Given the description of an element on the screen output the (x, y) to click on. 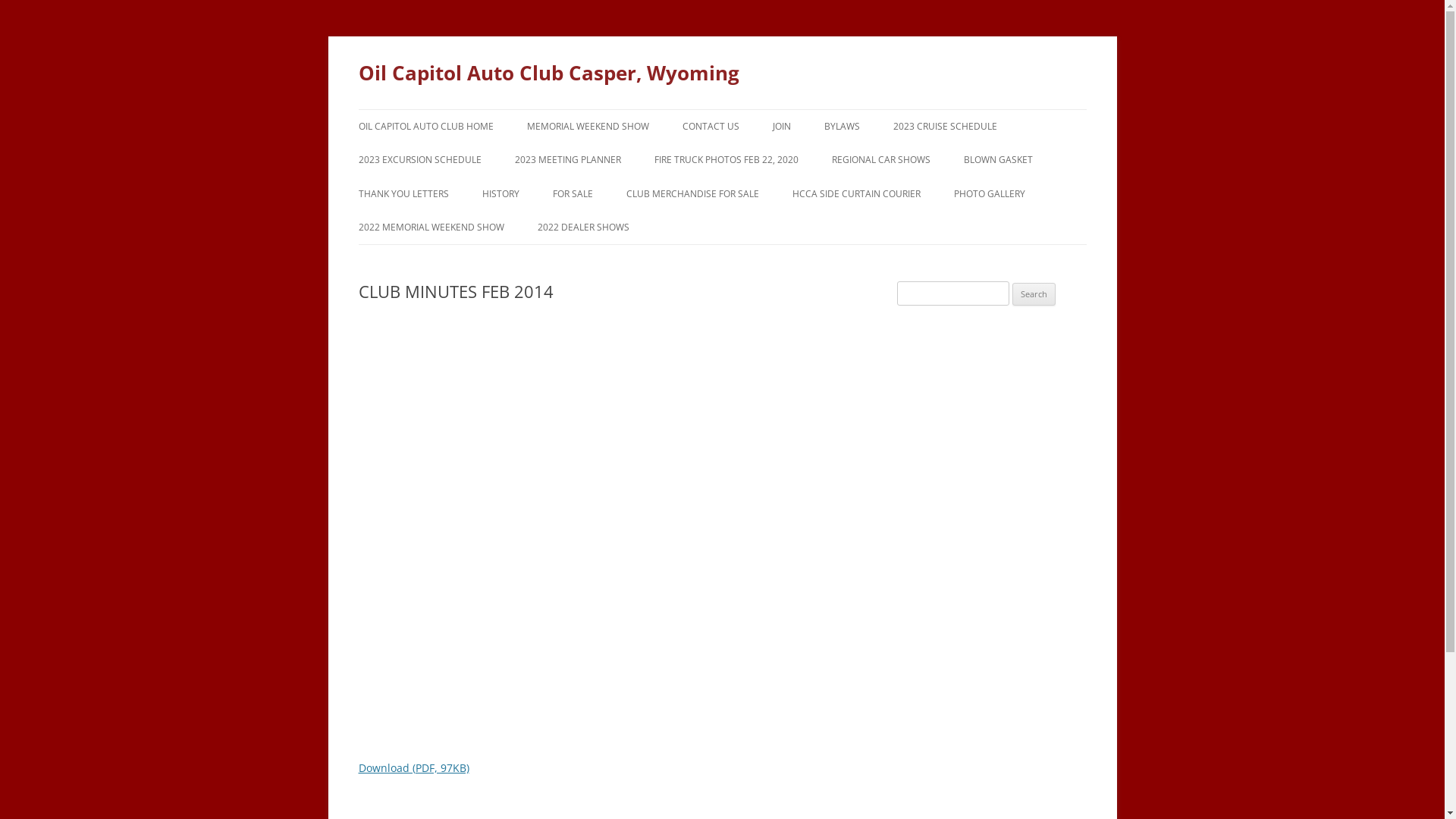
BYLAWS Element type: text (841, 126)
HISTORY Element type: text (500, 193)
REGIONAL CAR SHOWS Element type: text (880, 159)
Download (PDF, 97KB) Element type: text (412, 767)
NOVEMBER 2023 NEWSLETTER Element type: text (1038, 192)
2023 CRUISE SCHEDULE Element type: text (945, 126)
RON POTTER THANK YOU LETTER Element type: text (433, 225)
PHOTO GALLERY Element type: text (989, 193)
MEMORIAL WEEKEND SHOW Element type: text (587, 126)
BLOWN GASKET Element type: text (997, 159)
2022 DEALER SHOWS Element type: text (582, 227)
2023 MEETING PLANNER Element type: text (567, 159)
FOR SALE Element type: text (572, 193)
JANUARY 2022 NEW YEARS BRUNCH Element type: text (1029, 235)
2022 MEMORIAL WEEKEND SHOW Element type: text (430, 227)
CLUB MERCHANDISE FOR SALE Element type: text (692, 193)
Search Element type: text (1033, 293)
2023 EXCURSION SCHEDULE Element type: text (418, 159)
OIL CAPITOL AUTO CLUB HOME Element type: text (424, 126)
CONTACT US Element type: text (710, 126)
THANK YOU LETTERS Element type: text (402, 193)
FIRE TRUCK PHOTOS FEB 22, 2020 Element type: text (725, 159)
JOIN Element type: text (780, 126)
Skip to content Element type: text (721, 109)
HCCA SIDE CURTAIN COURIER Element type: text (855, 193)
Oil Capitol Auto Club Casper, Wyoming Element type: text (547, 72)
